Given the description of an element on the screen output the (x, y) to click on. 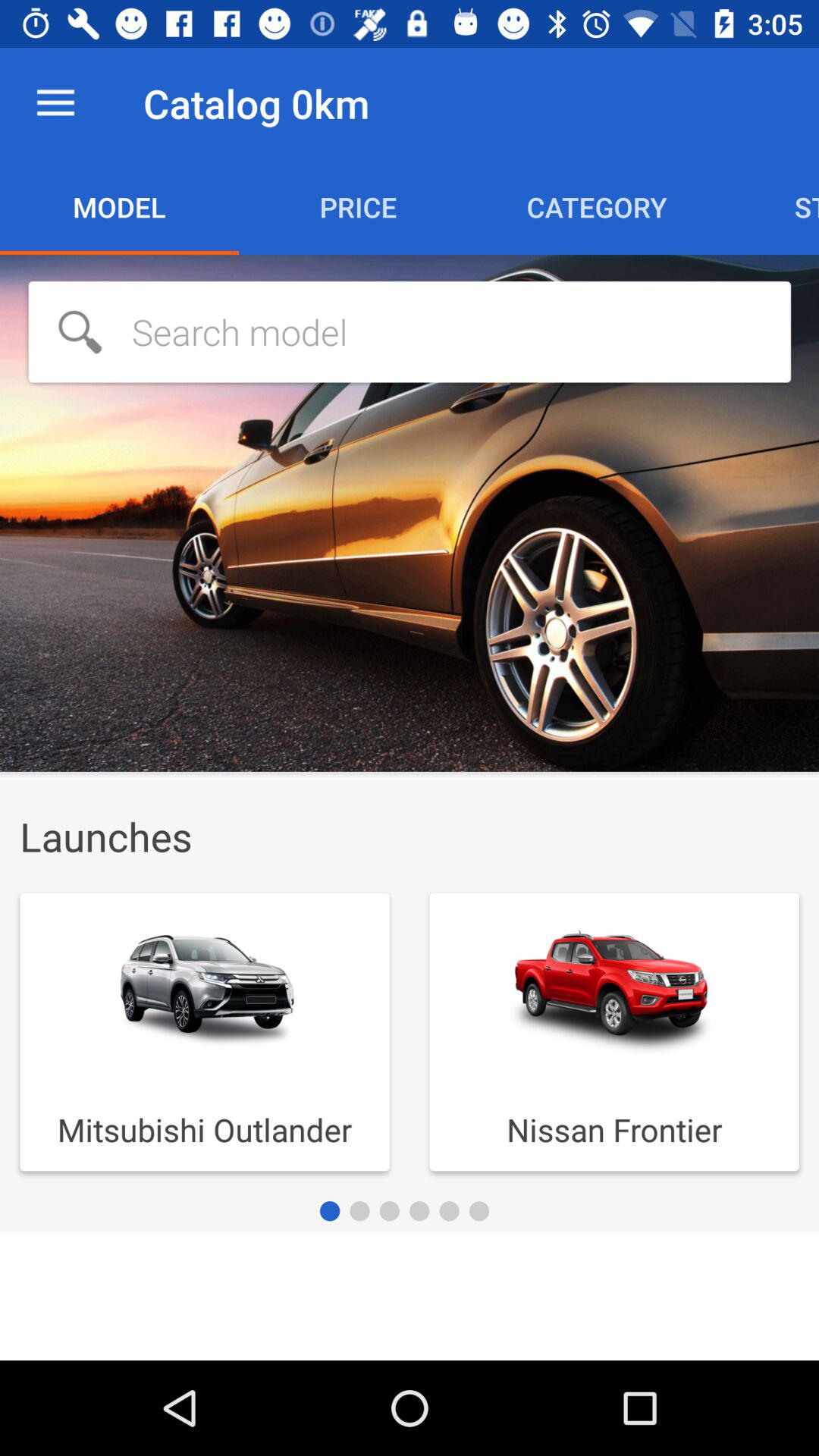
searchbar (409, 331)
